Given the description of an element on the screen output the (x, y) to click on. 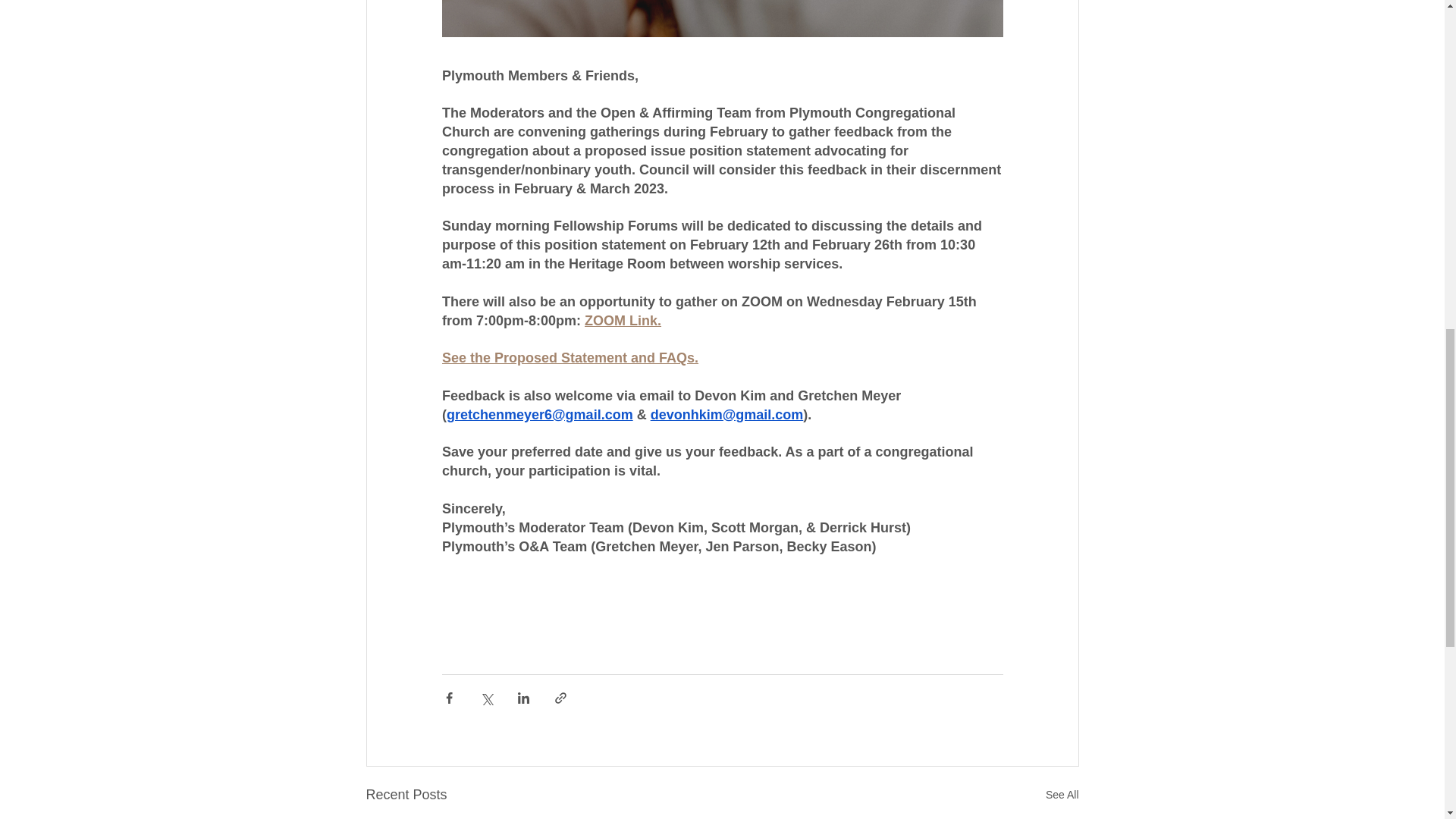
See All (1061, 794)
See the Proposed Statement and FAQs. (569, 357)
ZOOM Link. (623, 320)
